Given the description of an element on the screen output the (x, y) to click on. 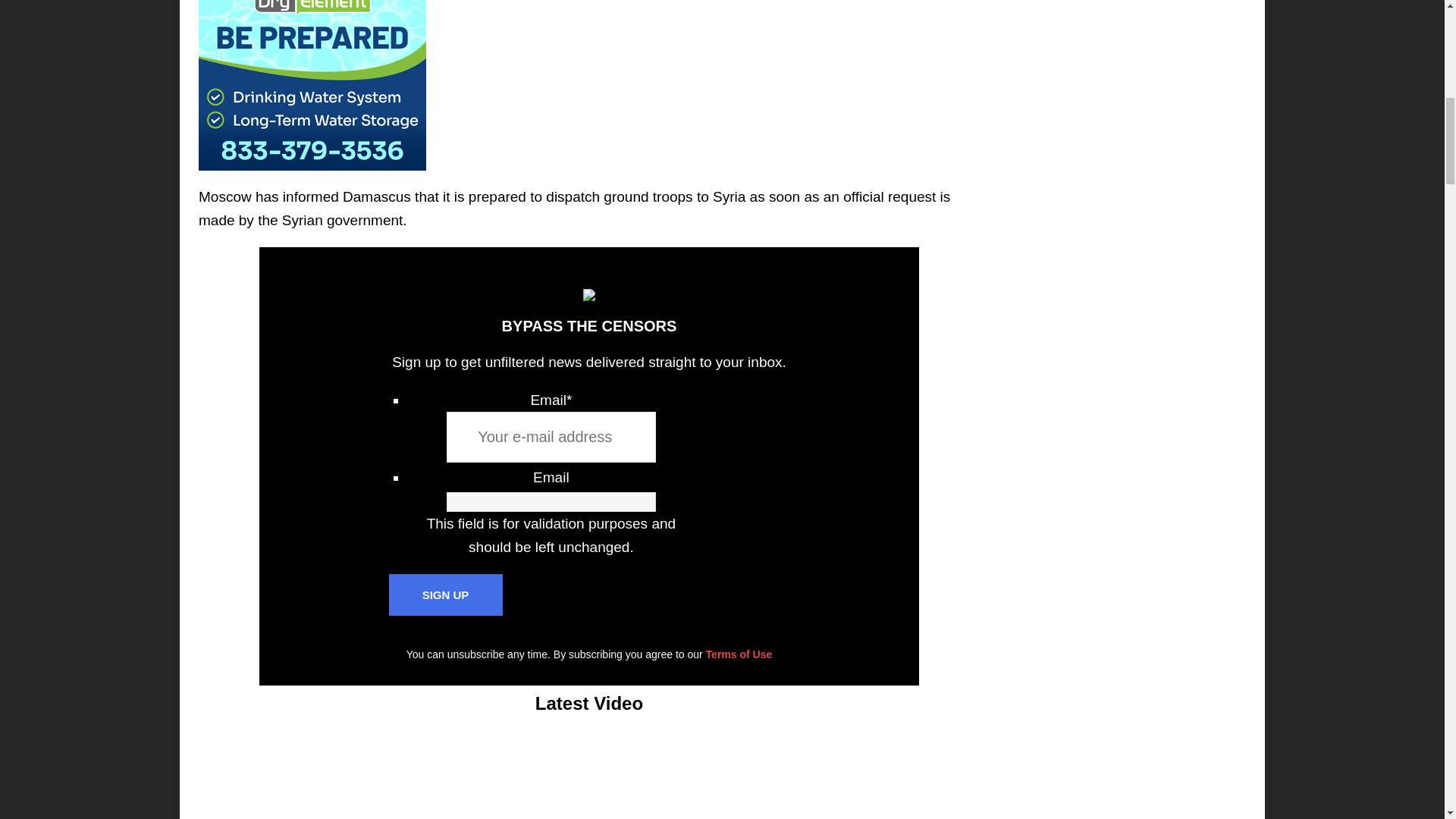
SIGN UP (445, 594)
